Given the description of an element on the screen output the (x, y) to click on. 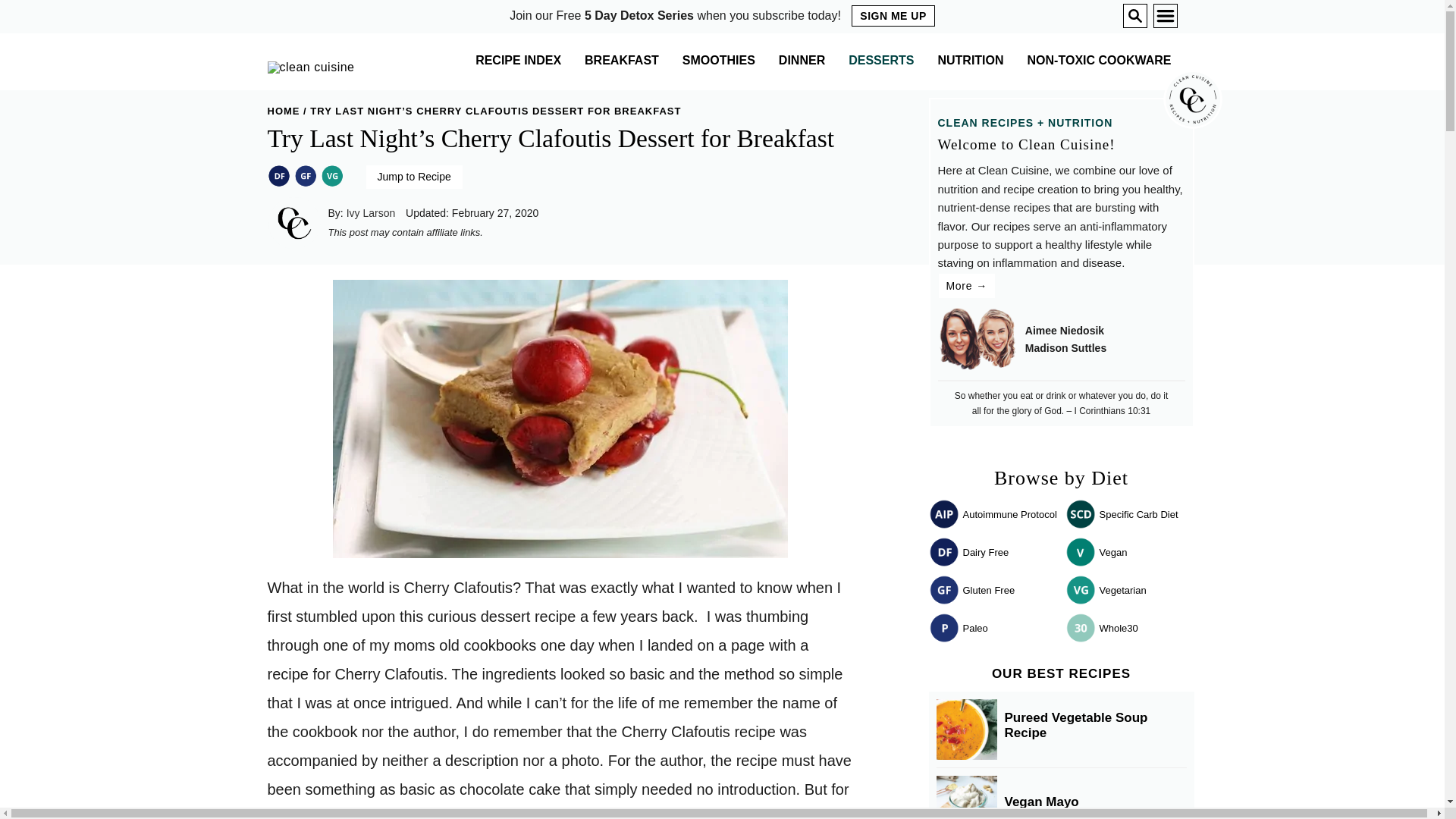
clean cuisine (309, 69)
NON-TOXIC COOKWARE (1099, 60)
BREAKFAST (621, 60)
NUTRITION (970, 60)
RECIPE INDEX (517, 60)
Search (1134, 15)
SIGN ME UP (892, 15)
DINNER (802, 60)
SMOOTHIES (719, 60)
DESSERTS (881, 60)
